Given the description of an element on the screen output the (x, y) to click on. 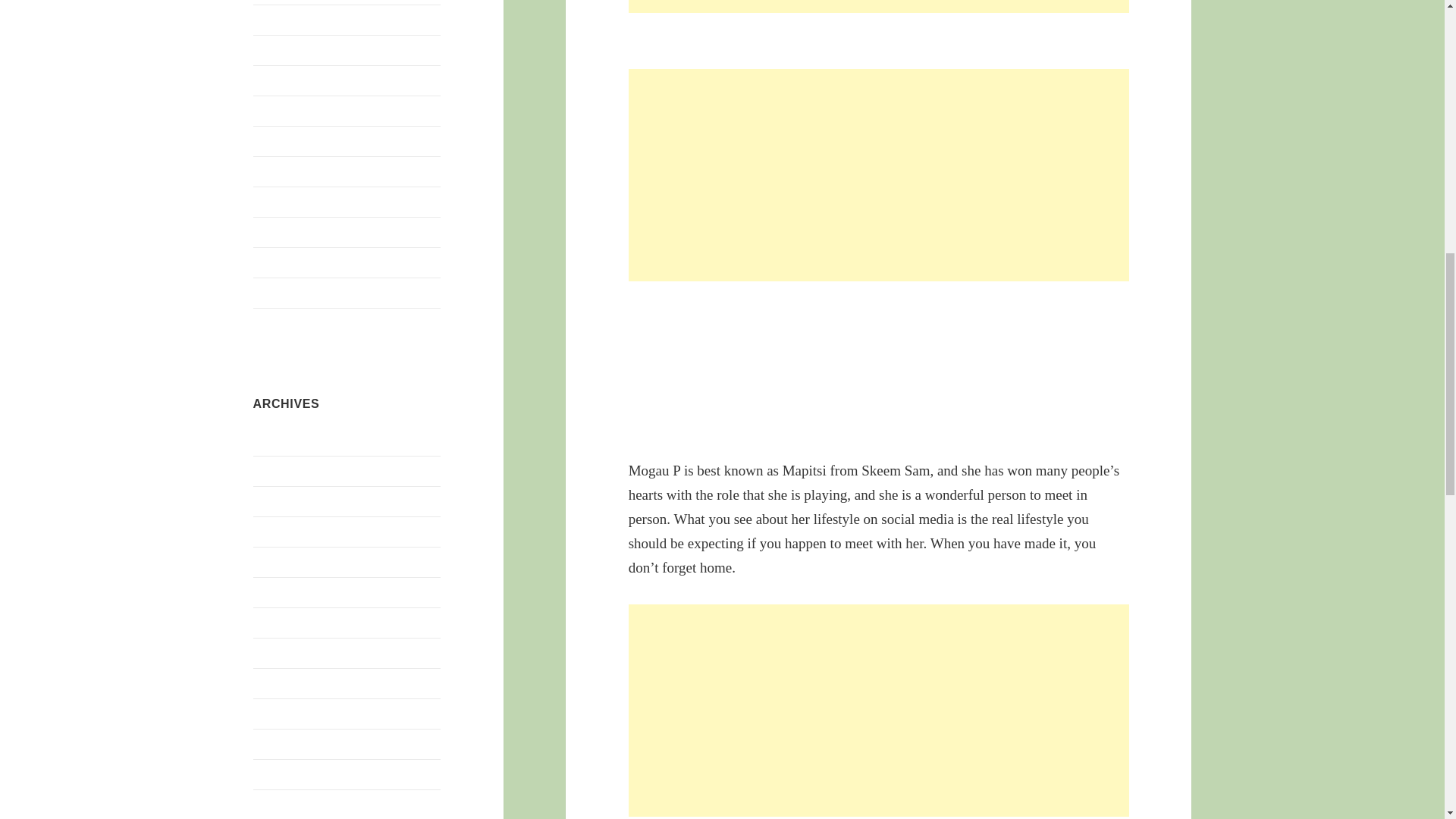
Short Hairstyle 2018 (303, 201)
April 2024 (279, 561)
March 2023 (283, 712)
March 2024 (283, 591)
mzansi celebrities (296, 110)
July 2024 (277, 470)
Haircut Designs (292, 19)
Hijab Fashion 2018 (301, 50)
Makeup (272, 80)
September 2021 (292, 773)
